Given the description of an element on the screen output the (x, y) to click on. 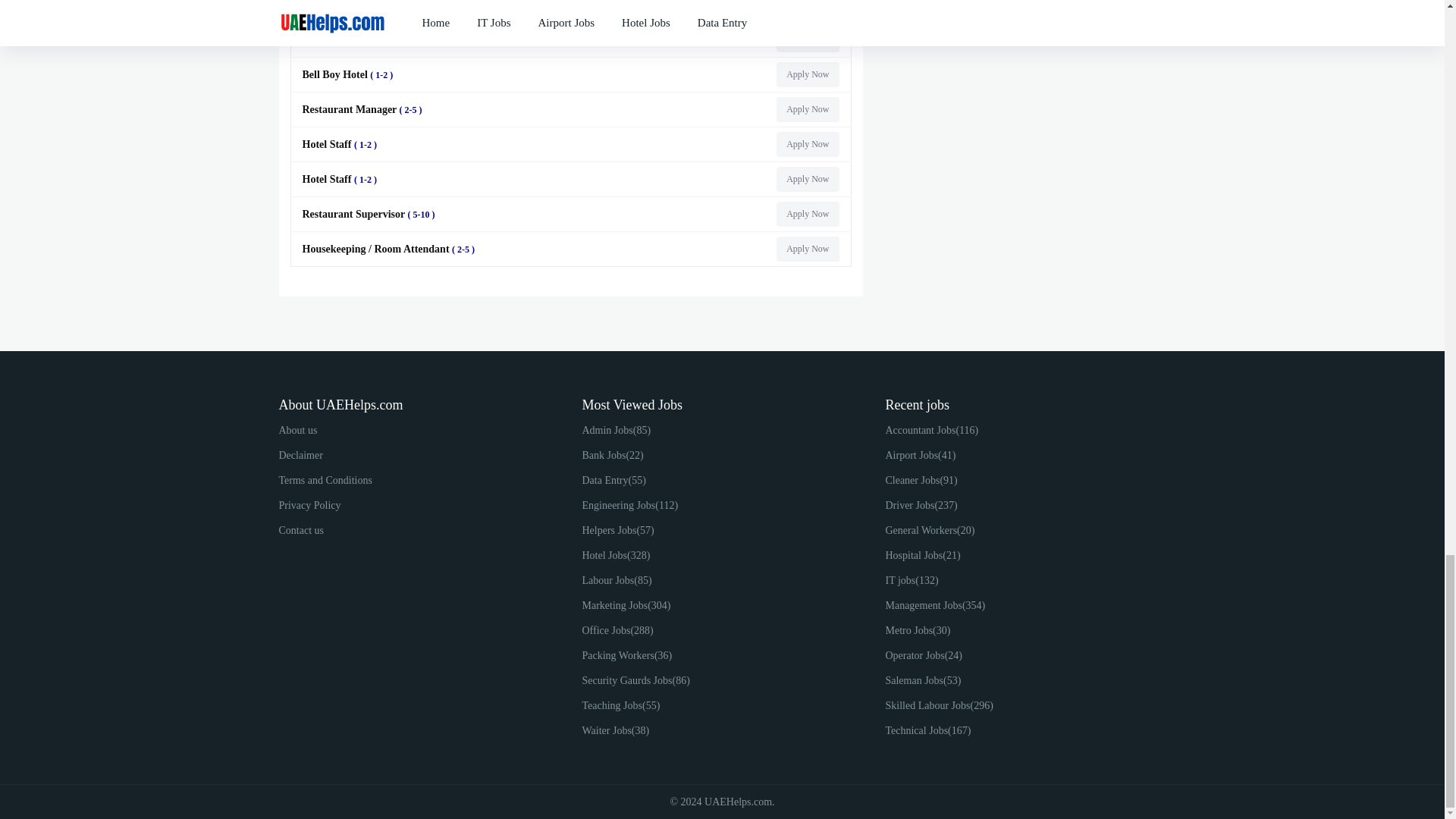
Restaurant Supervisor (368, 5)
Apply Now (807, 8)
Restaurant Supervisor Jobs in Dubai UAE (807, 8)
Apply Now (807, 74)
Apply Now (807, 109)
Apply Now (807, 144)
Apply Now (807, 39)
